Given the description of an element on the screen output the (x, y) to click on. 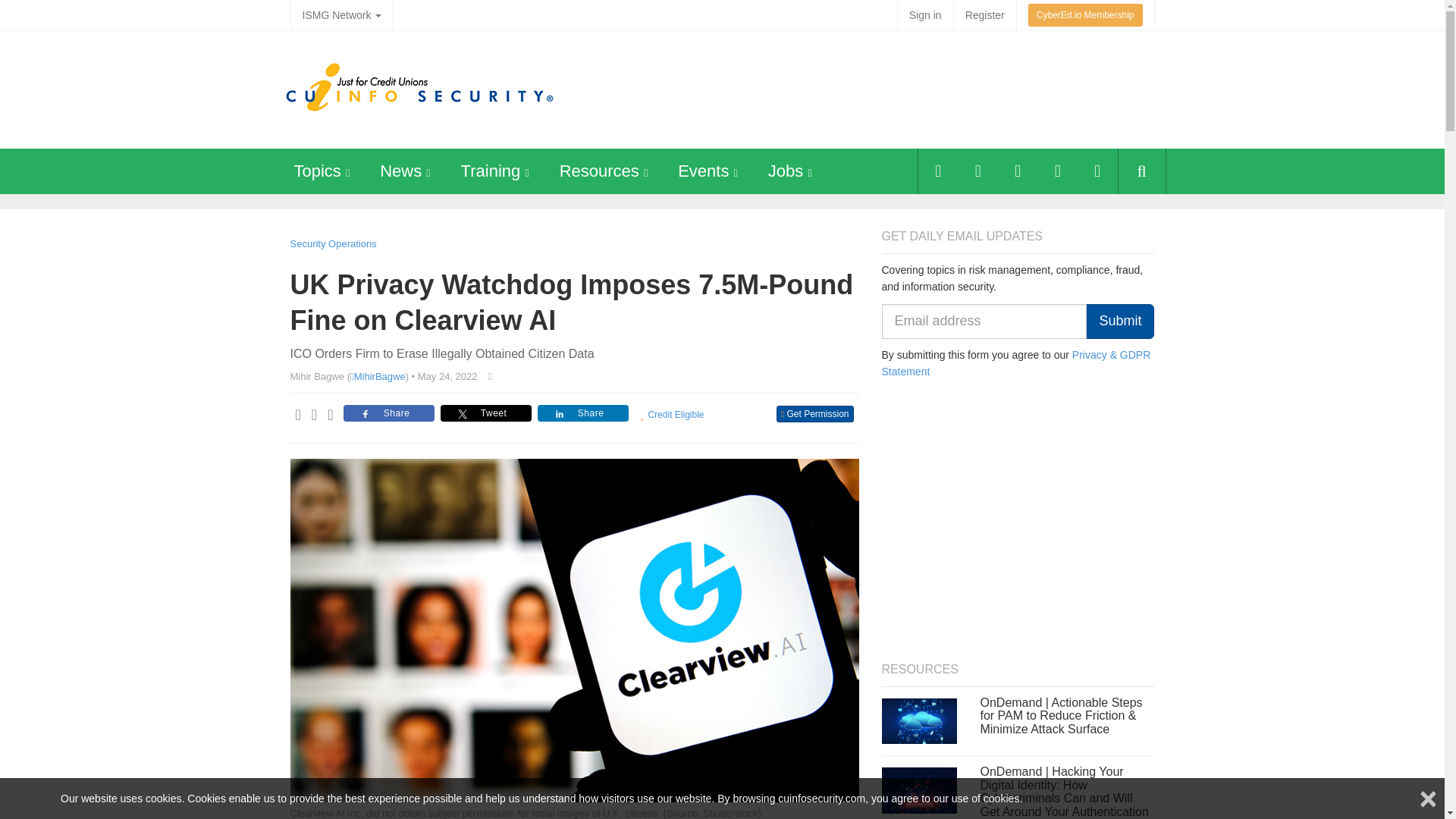
Register (984, 15)
CyberEd.io Membership (1084, 15)
Topics (317, 170)
Sign in (925, 15)
3rd party ad content (873, 88)
ISMG Network (341, 15)
